Given the description of an element on the screen output the (x, y) to click on. 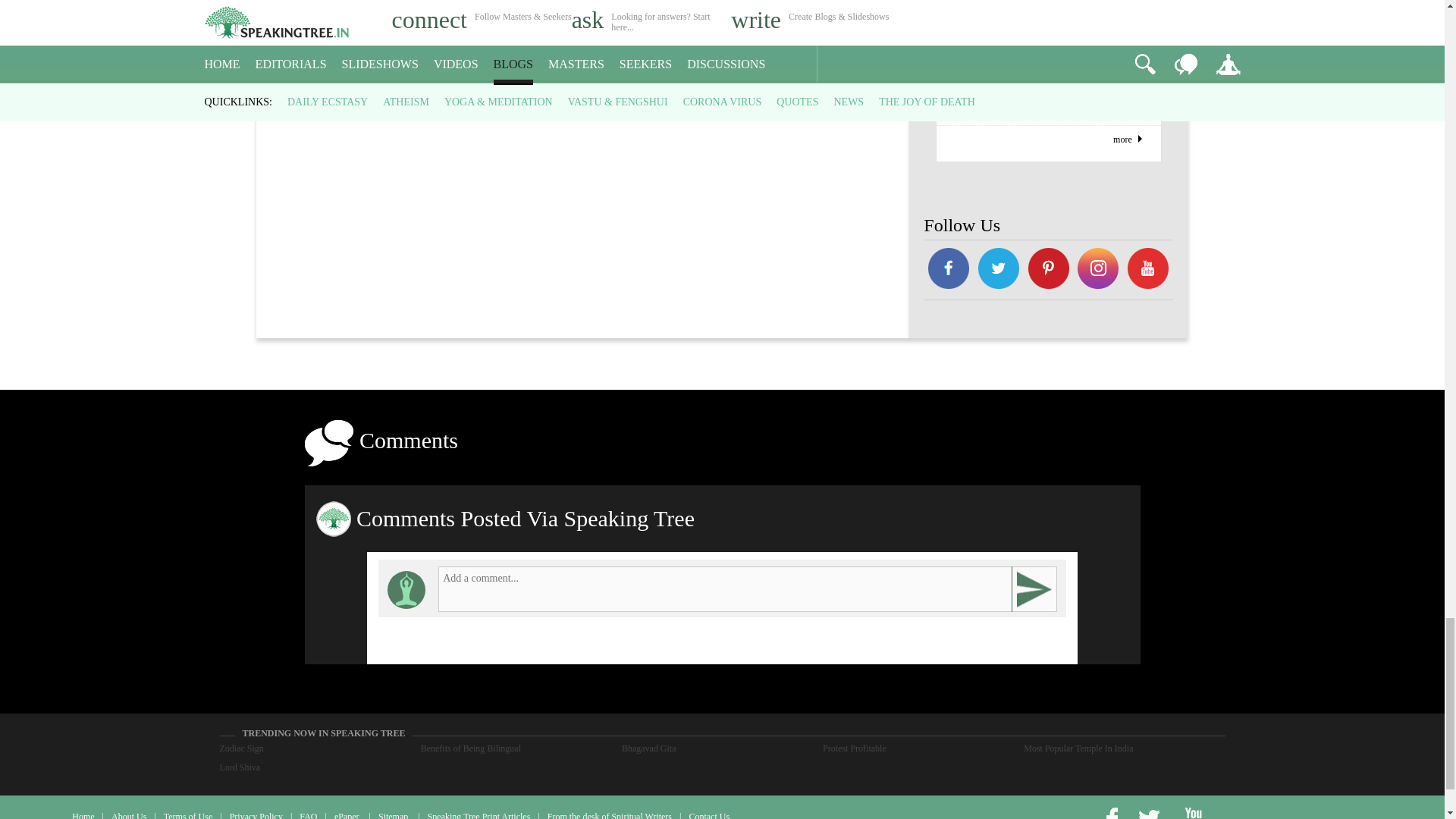
Speaking Tree FaceBook (998, 270)
Speaking Tree FaceBook (1048, 270)
Speaking Tree FaceBook (948, 270)
Speaking Tree FaceBook (1099, 270)
Speaking Tree FaceBook (1147, 270)
